Given the description of an element on the screen output the (x, y) to click on. 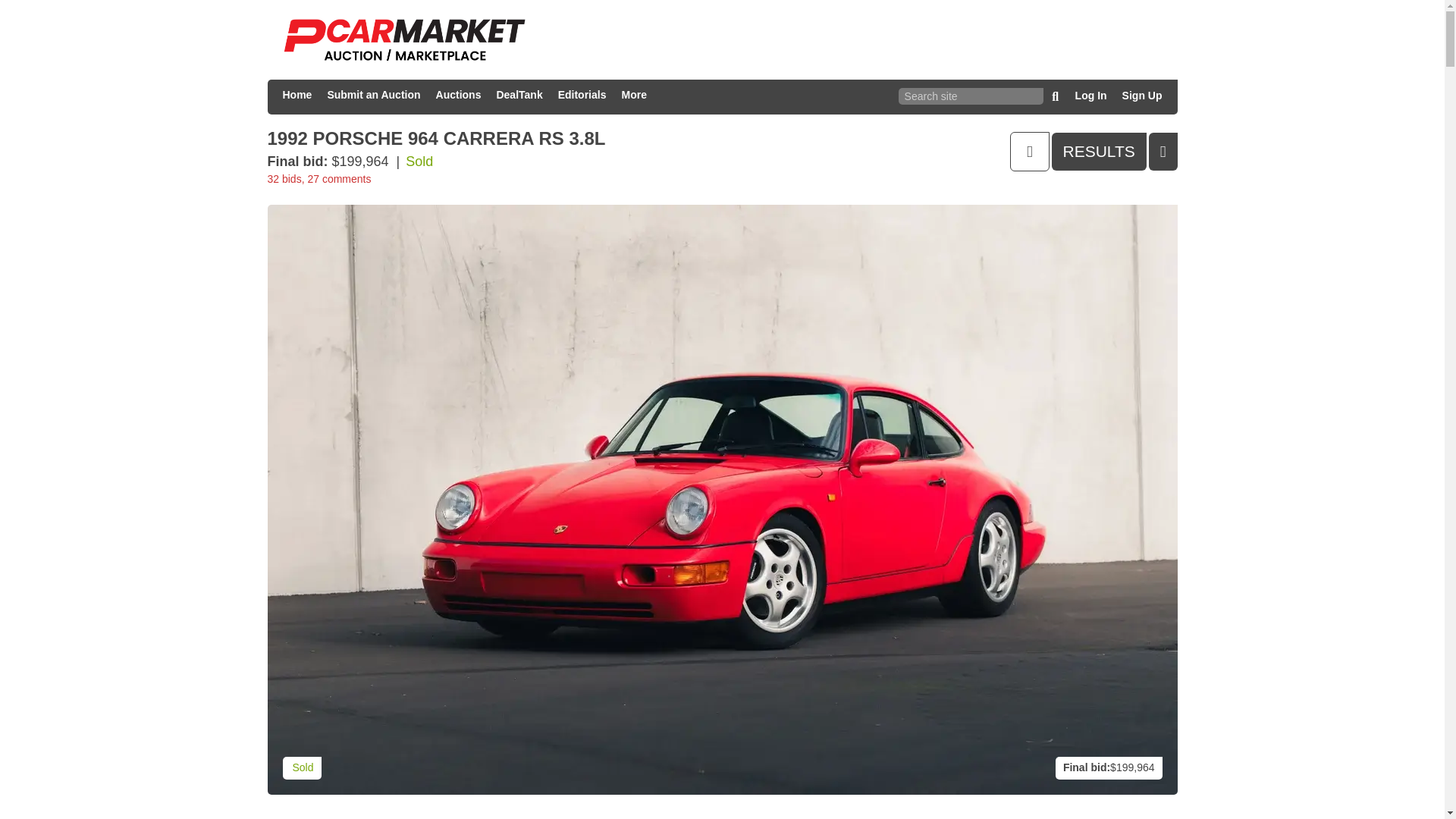
Submit an Auction (373, 96)
Auctions (458, 96)
More (632, 96)
Log In (1091, 97)
RESULTS (1099, 151)
Sign Up (1142, 97)
DealTank (518, 96)
PCARMARKET - Automotive Enthusiast Marketplace (403, 39)
Editorials (582, 96)
32 bids, 27 comments (318, 178)
